Given the description of an element on the screen output the (x, y) to click on. 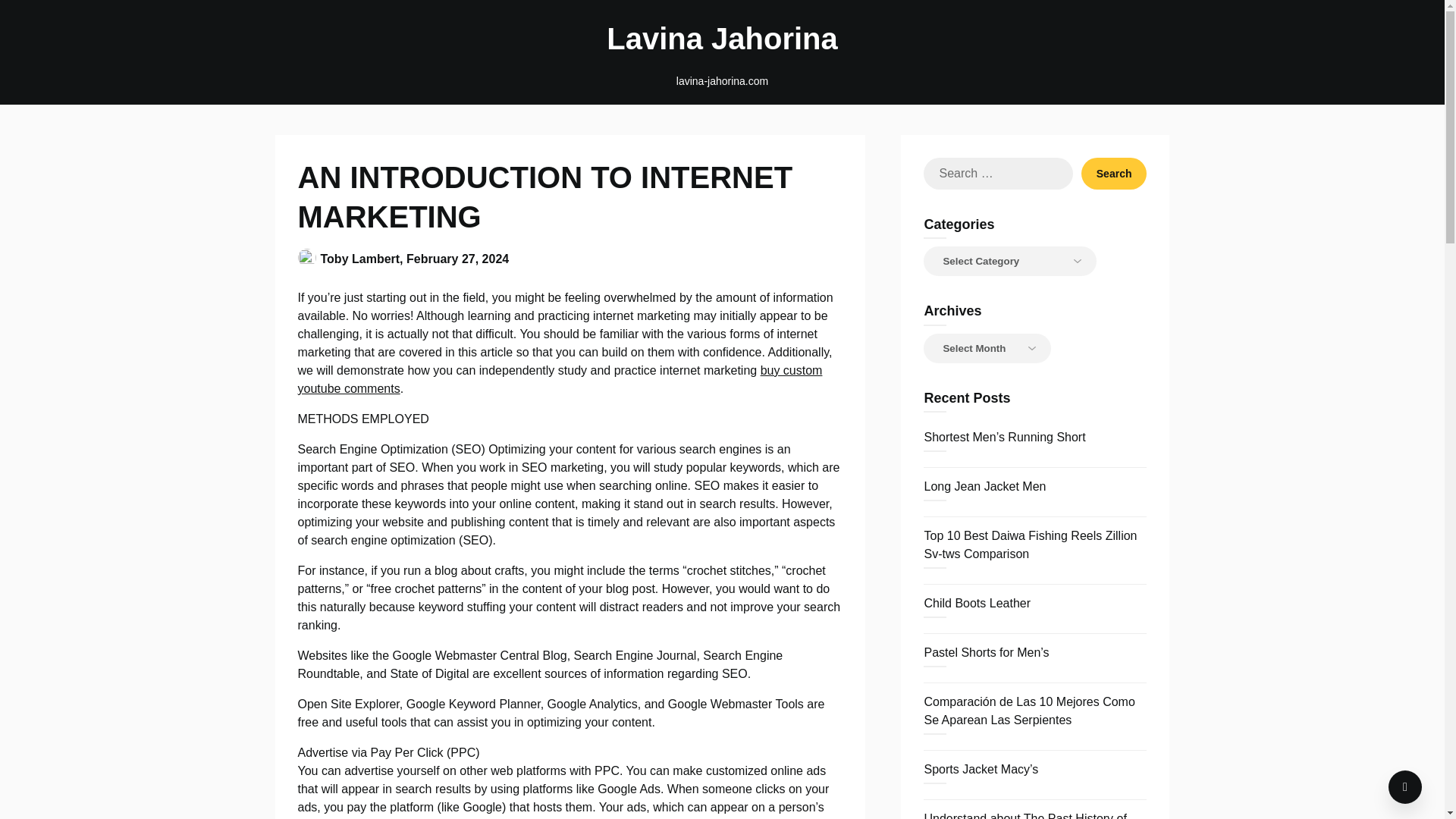
Search (1114, 173)
buy custom youtube comments (559, 378)
Long Jean Jacket Men (984, 486)
To Top (1405, 786)
Understand about The Past History of Competition (1024, 815)
Top 10 Best Daiwa Fishing Reels Zillion Sv-tws Comparison (1030, 544)
Child Boots Leather (976, 603)
February 27, 2024 (457, 257)
Search (1114, 173)
Lavina Jahorina (722, 38)
